Given the description of an element on the screen output the (x, y) to click on. 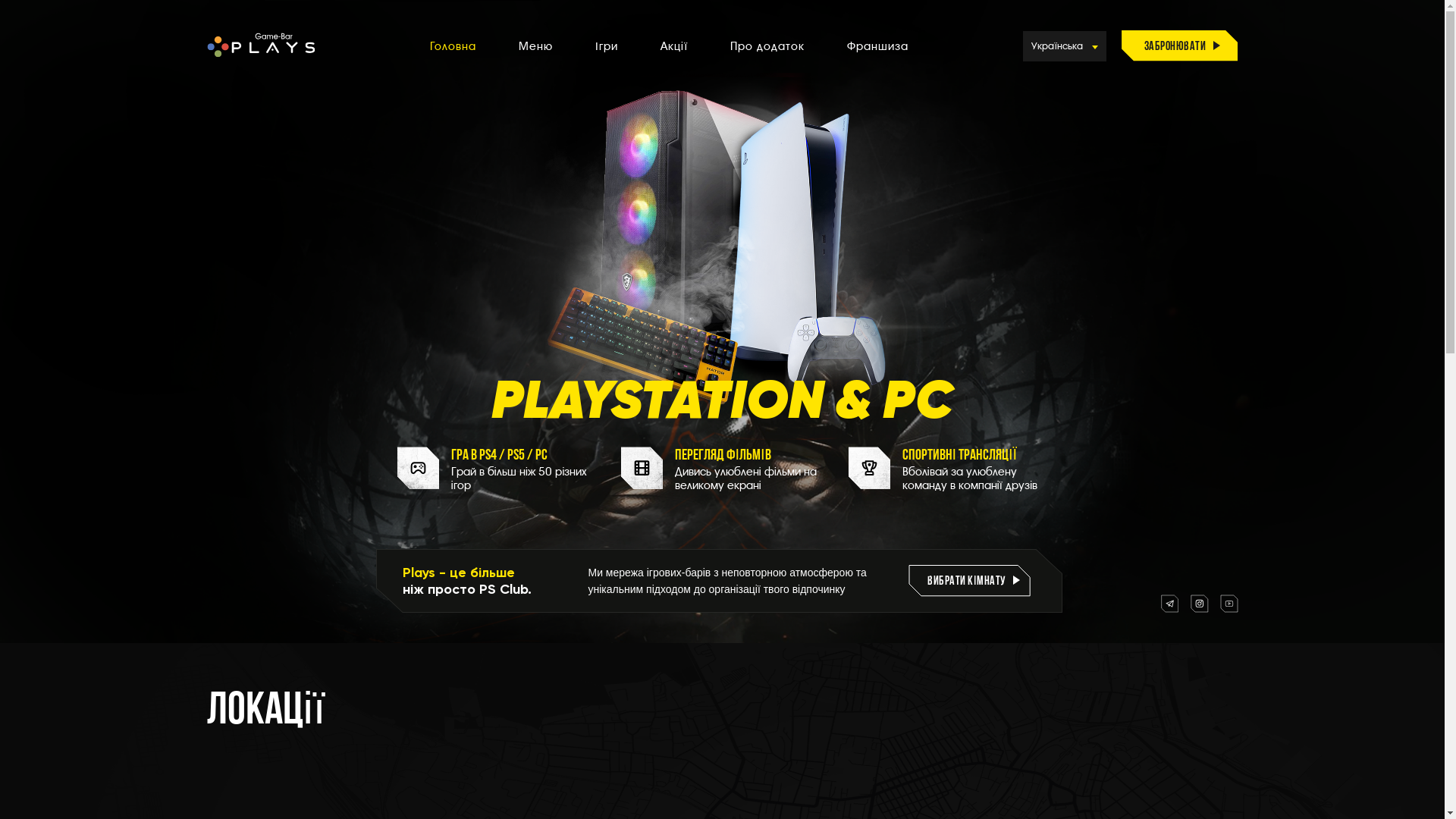
Telegram Element type: text (1169, 603)
Instagram Element type: text (1199, 603)
Youtube Element type: text (1228, 603)
